Given the description of an element on the screen output the (x, y) to click on. 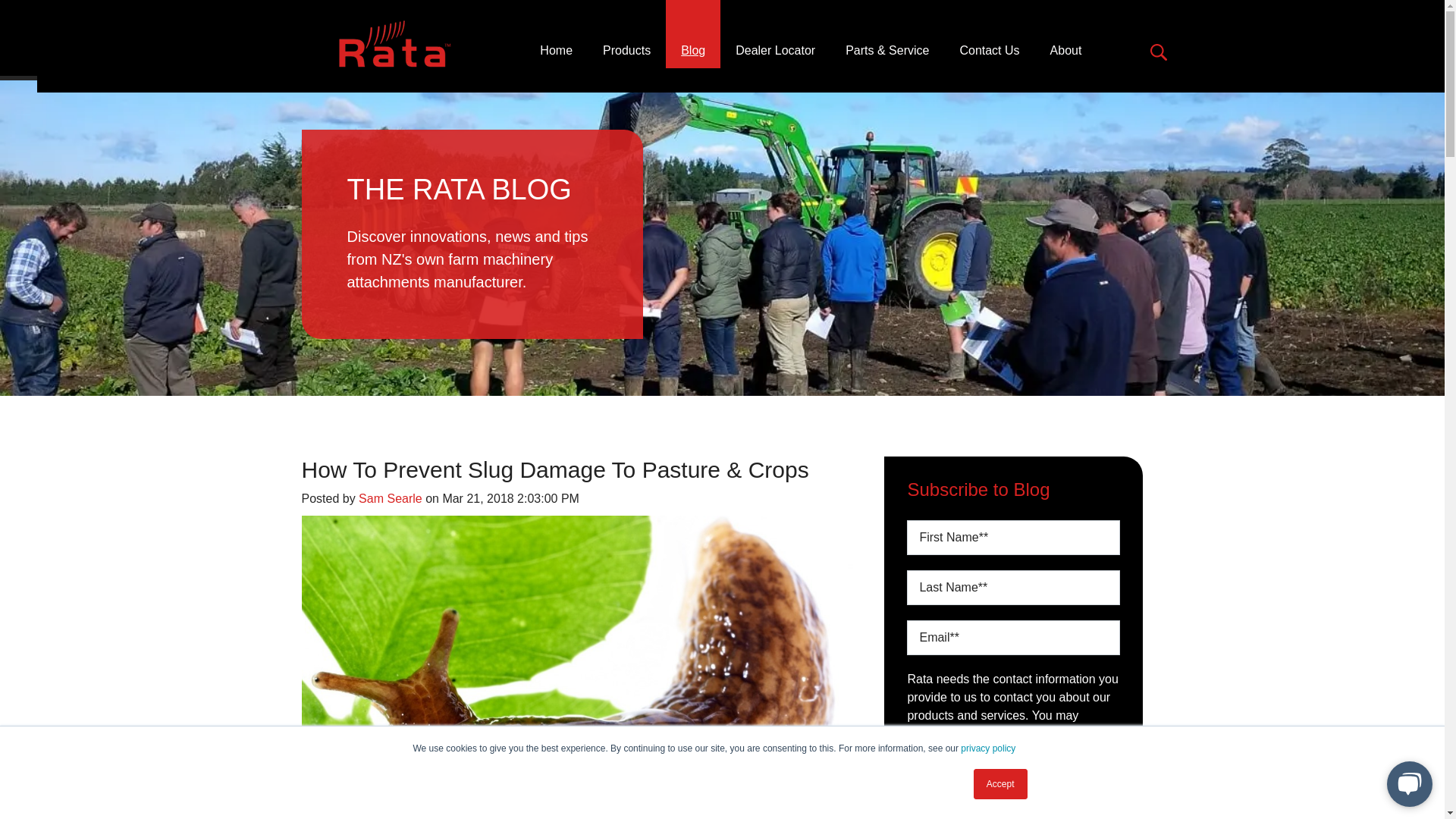
Sam Searle (390, 498)
Dealer Locator (774, 33)
About (1066, 33)
Contact Us (988, 33)
privacy policy (987, 747)
Home (556, 33)
Accept (1000, 784)
redesign-logo-2018 22 (394, 43)
Products (626, 33)
